Given the description of an element on the screen output the (x, y) to click on. 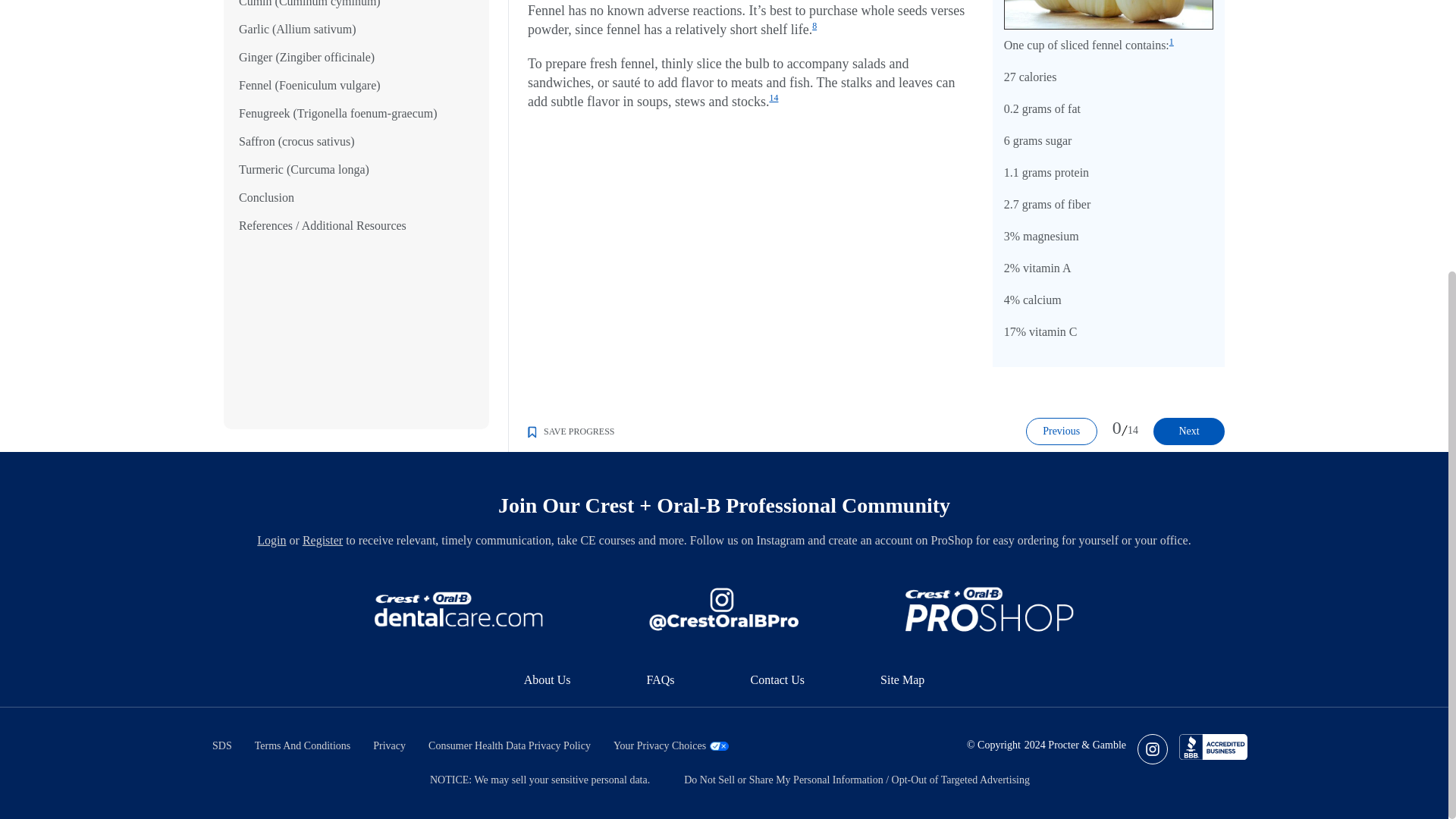
Conclusion (266, 174)
